Given the description of an element on the screen output the (x, y) to click on. 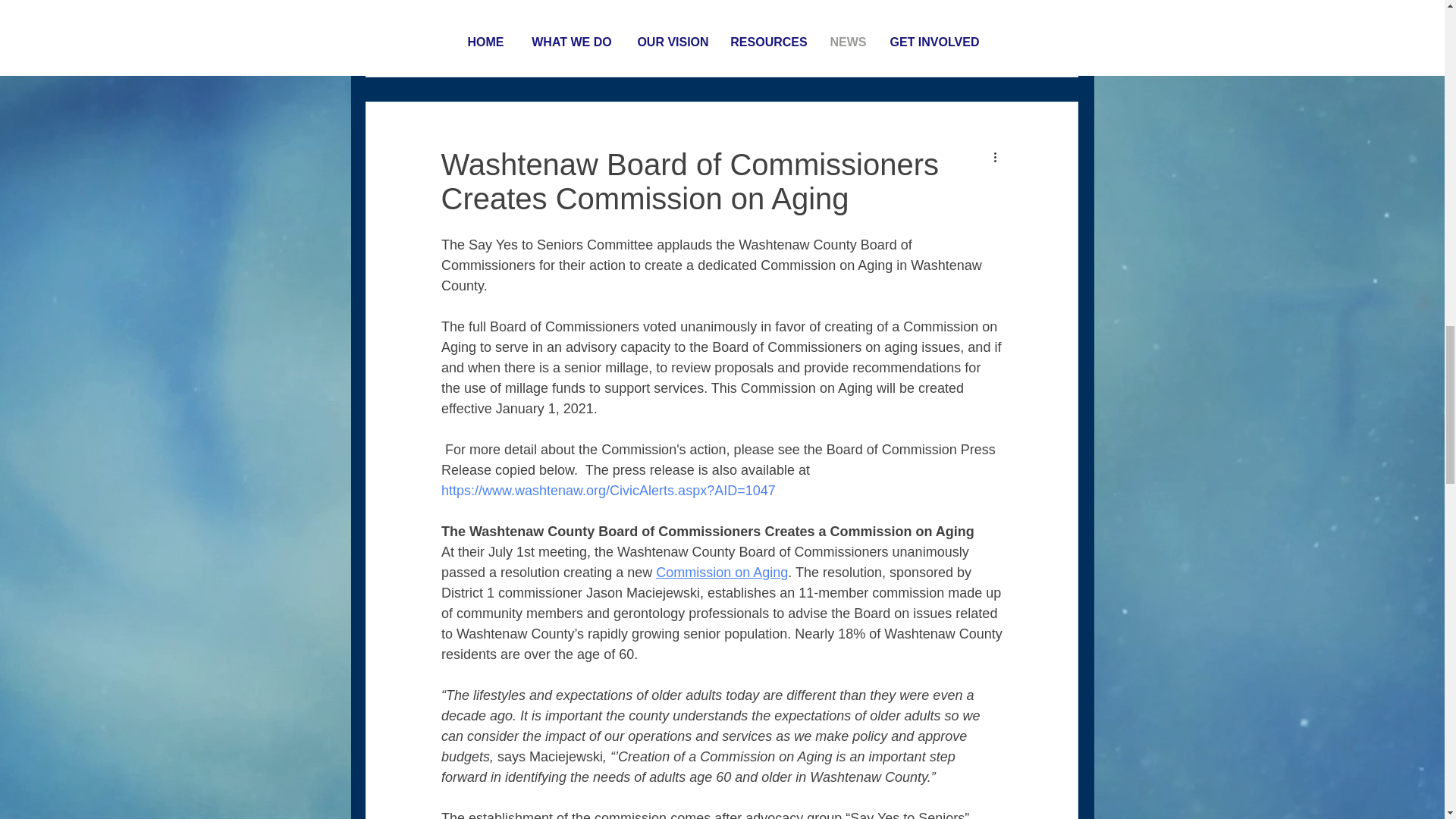
Commission on Aging (721, 572)
Washtenaw Board of Commissioners Creates Commission on Aging (690, 181)
0 comments (527, 23)
Post not marked as liked (994, 23)
